Given the description of an element on the screen output the (x, y) to click on. 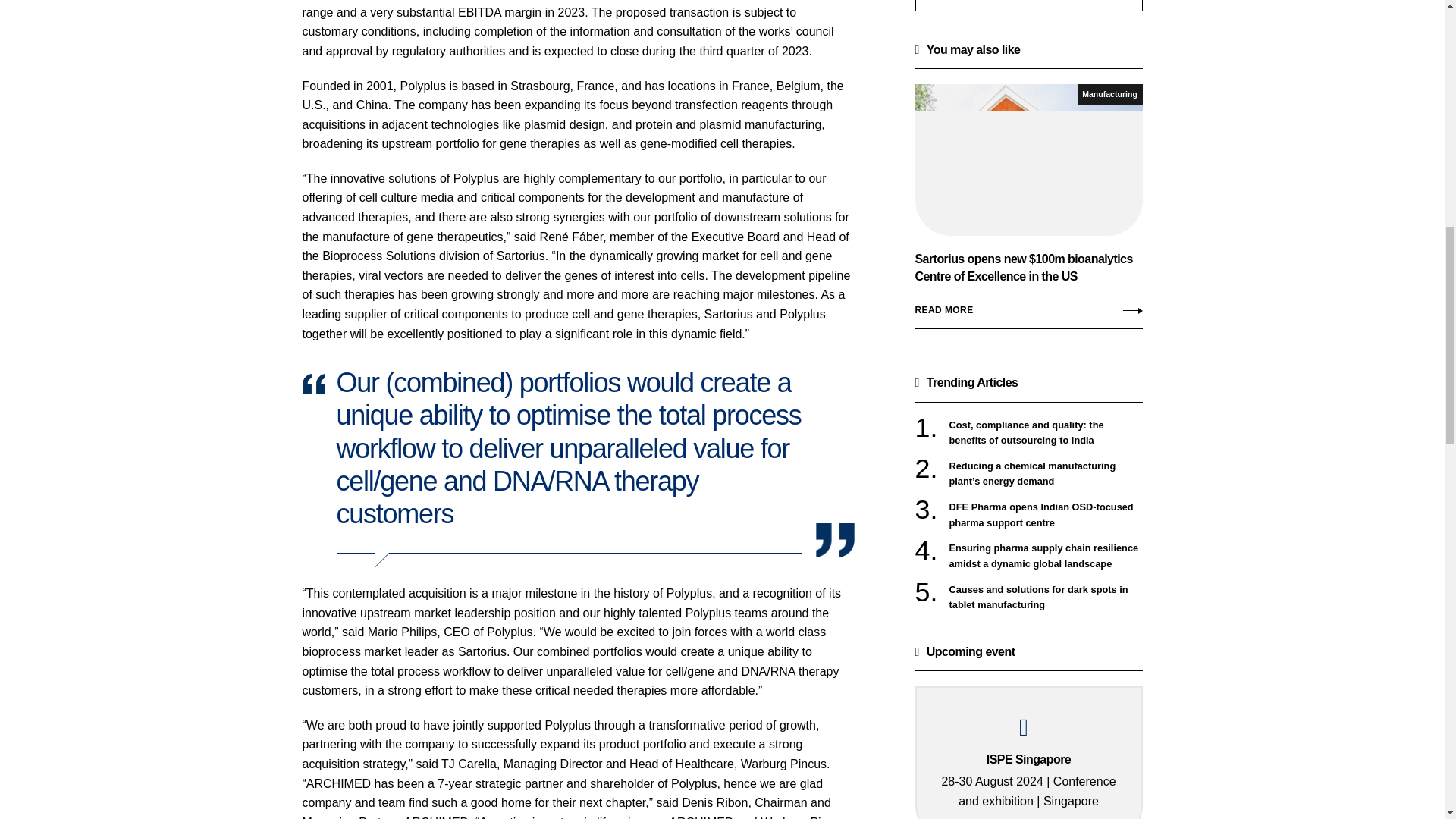
Manufacturing (1109, 94)
DFE Pharma opens Indian OSD-focused pharma support centre (1045, 514)
Causes and solutions for dark spots in tablet manufacturing (1045, 597)
